Given the description of an element on the screen output the (x, y) to click on. 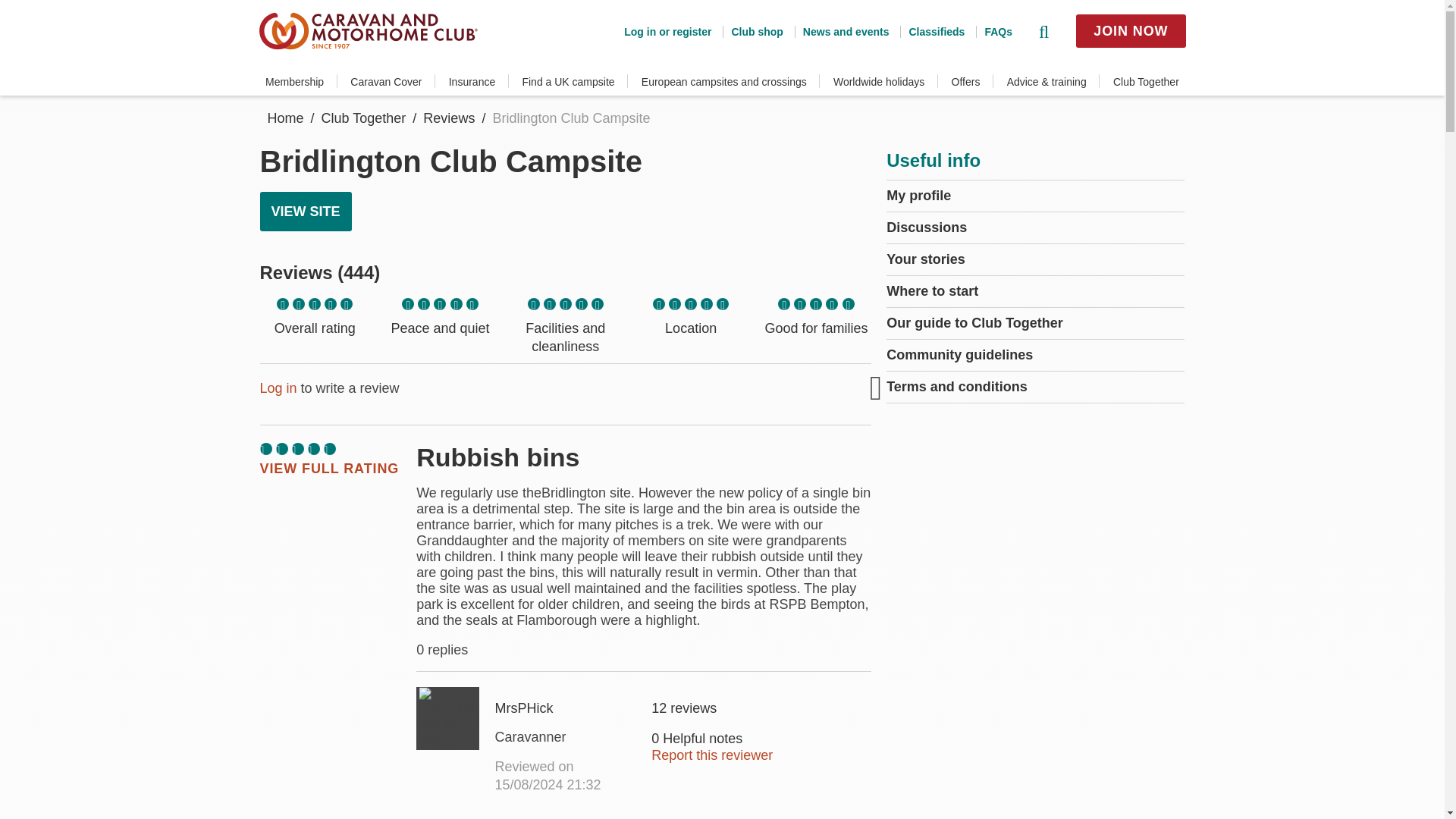
View MrsPHick's profile (565, 737)
View MrsPHick profile (447, 718)
Report this reviewer (711, 754)
FAQs (993, 31)
News and events (841, 31)
Membership (293, 81)
Caravan Cover (386, 81)
View MrsPHick profile (565, 708)
JOIN NOW (1130, 30)
Club shop (752, 31)
